Given the description of an element on the screen output the (x, y) to click on. 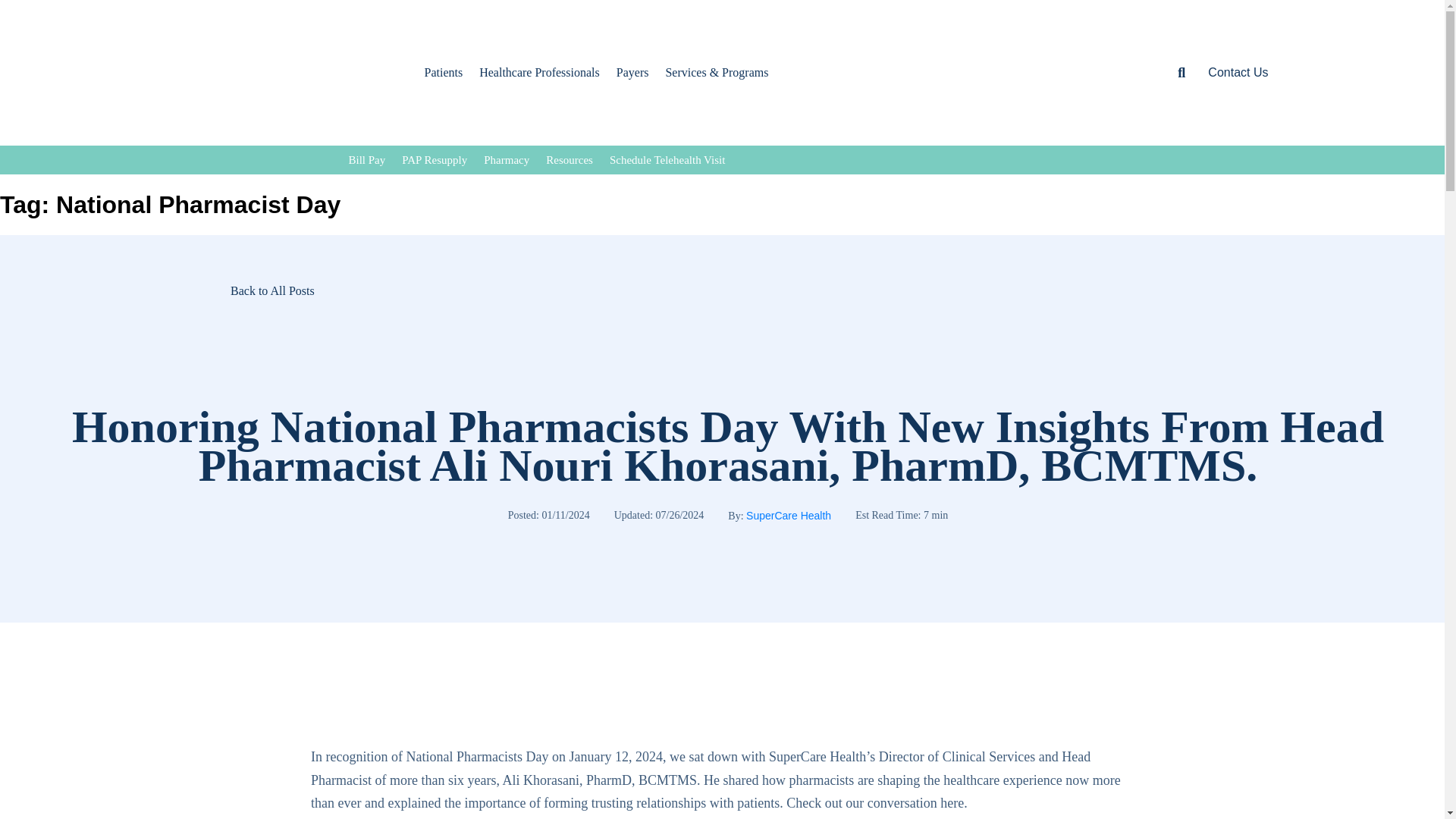
Back to All Posts (157, 290)
PAP Resupply (434, 159)
Contact Us (1238, 72)
Schedule Telehealth Visit (667, 159)
Healthcare Professionals (539, 72)
Pharmacy (506, 159)
Payers (632, 72)
Bill Pay (367, 159)
Resources (569, 159)
SuperCare Health (788, 515)
